Given the description of an element on the screen output the (x, y) to click on. 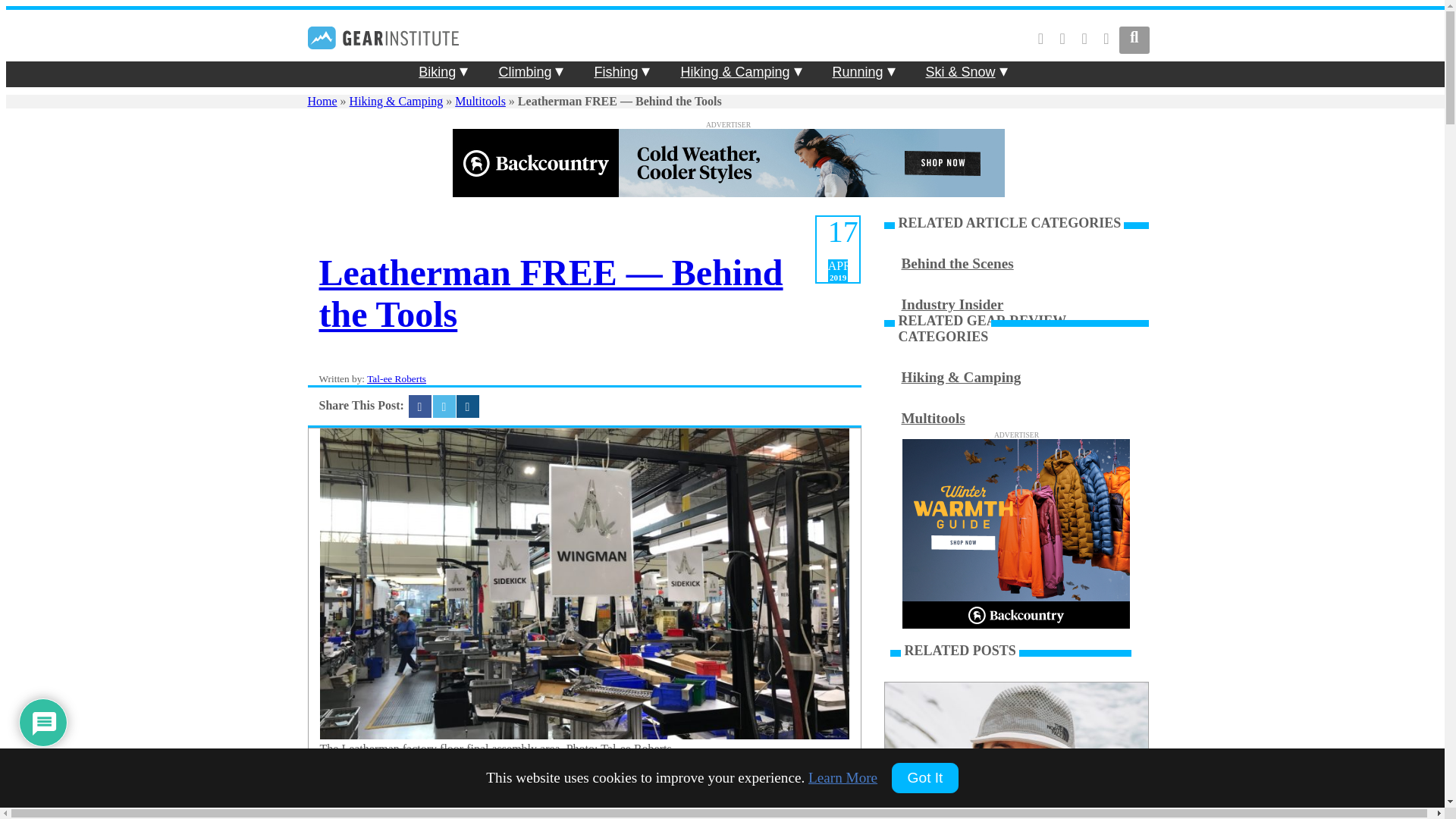
Biking (437, 71)
Climbing (524, 71)
Gear Institute (383, 53)
Learn More (842, 777)
Learn More (842, 777)
Biking (437, 71)
Got It (924, 777)
Climbing (524, 71)
